Given the description of an element on the screen output the (x, y) to click on. 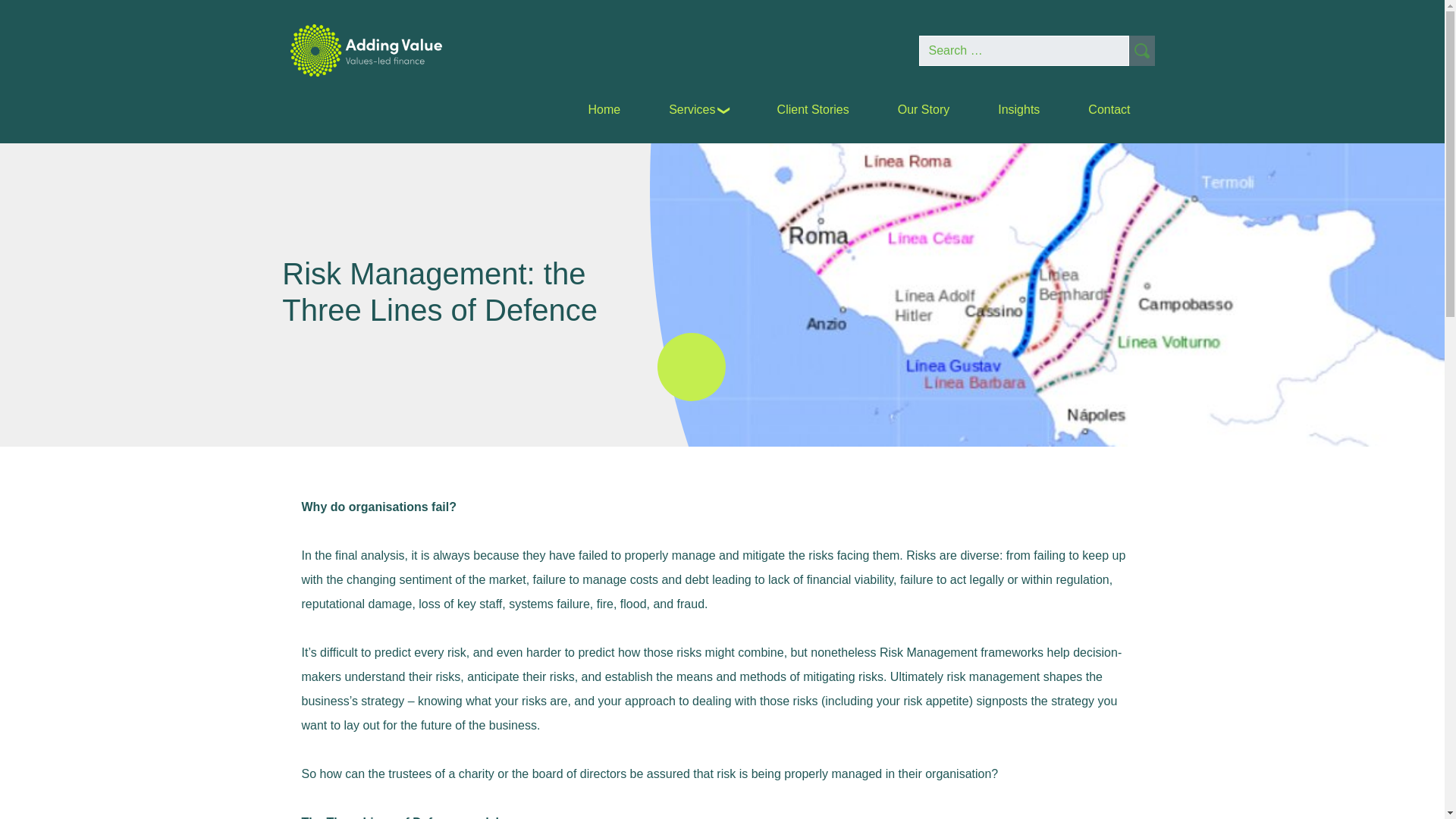
Services (697, 109)
Contact (1108, 109)
Insights (1018, 109)
Home (603, 109)
Client Stories (813, 109)
Our Story (922, 109)
